Given the description of an element on the screen output the (x, y) to click on. 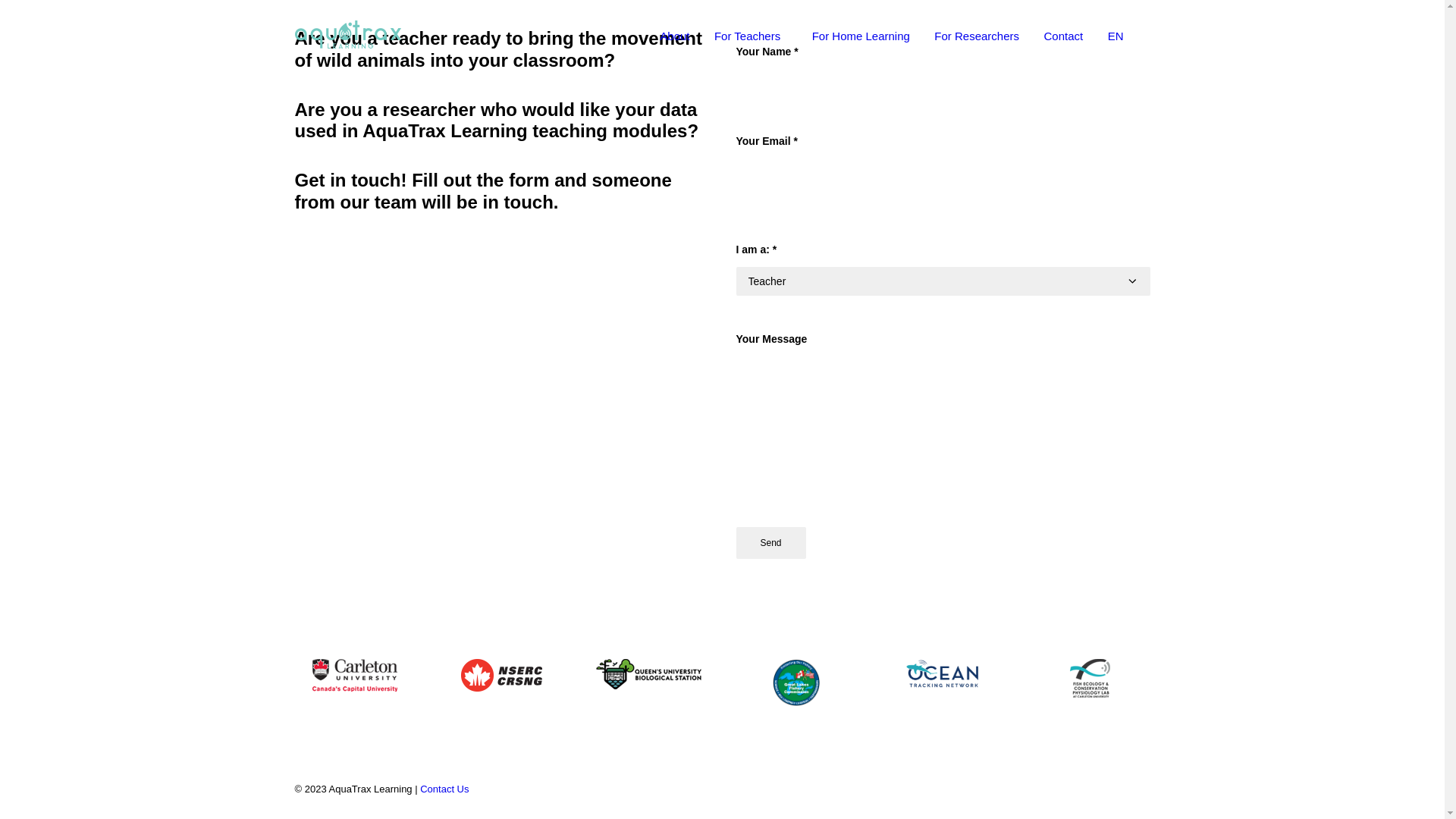
EN Element type: text (1113, 34)
For Home Learning Element type: text (860, 34)
For Researchers Element type: text (976, 34)
Contact Us Element type: text (444, 788)
Contact Element type: text (1062, 34)
Send Element type: text (770, 542)
For Teachers Element type: text (750, 34)
About Element type: text (674, 34)
